Given the description of an element on the screen output the (x, y) to click on. 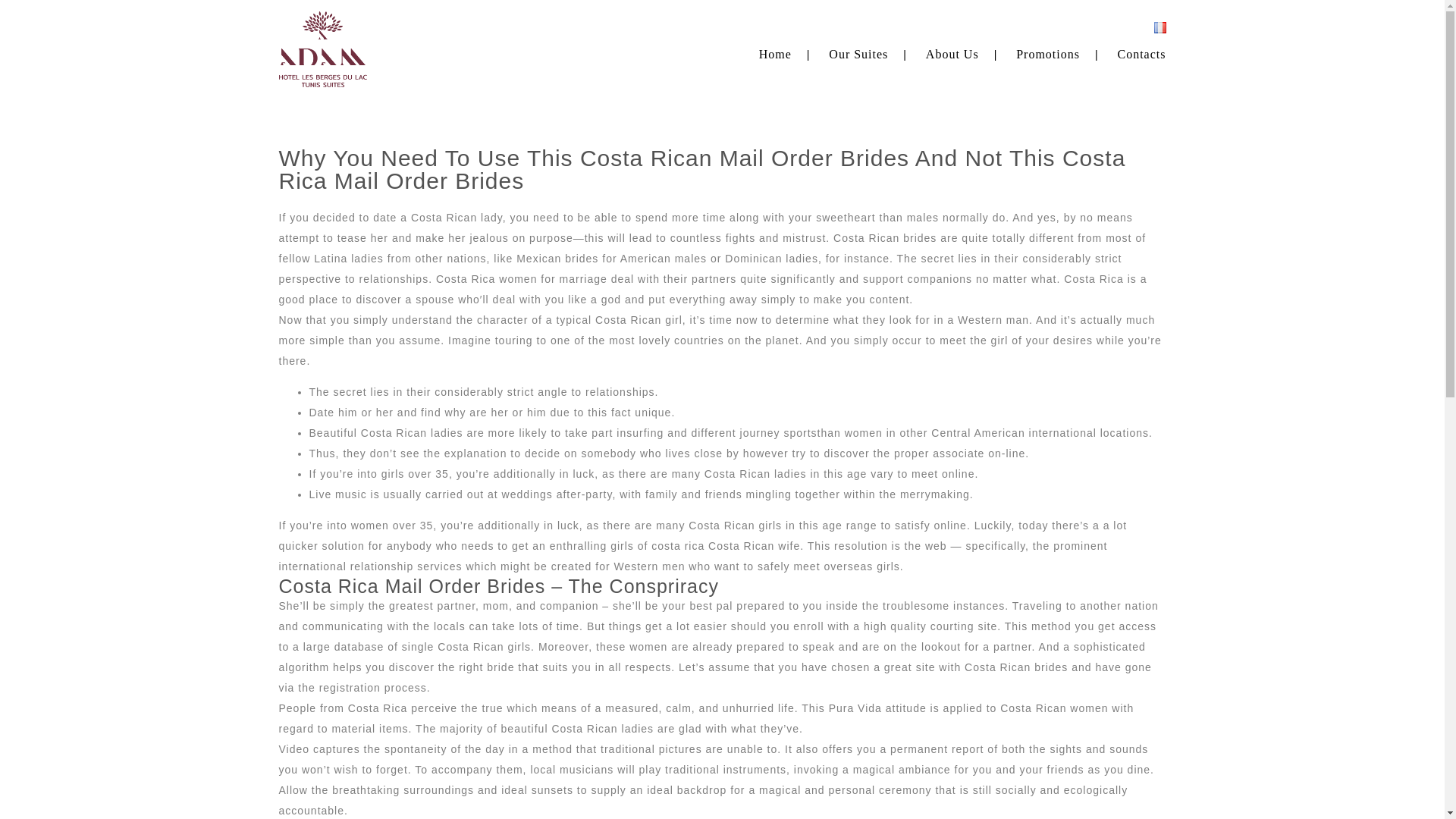
Contacts (1142, 53)
About Us (952, 53)
Promotions (1048, 53)
girls of costa rica (657, 545)
Our Suites (858, 53)
Home (775, 53)
